Given the description of an element on the screen output the (x, y) to click on. 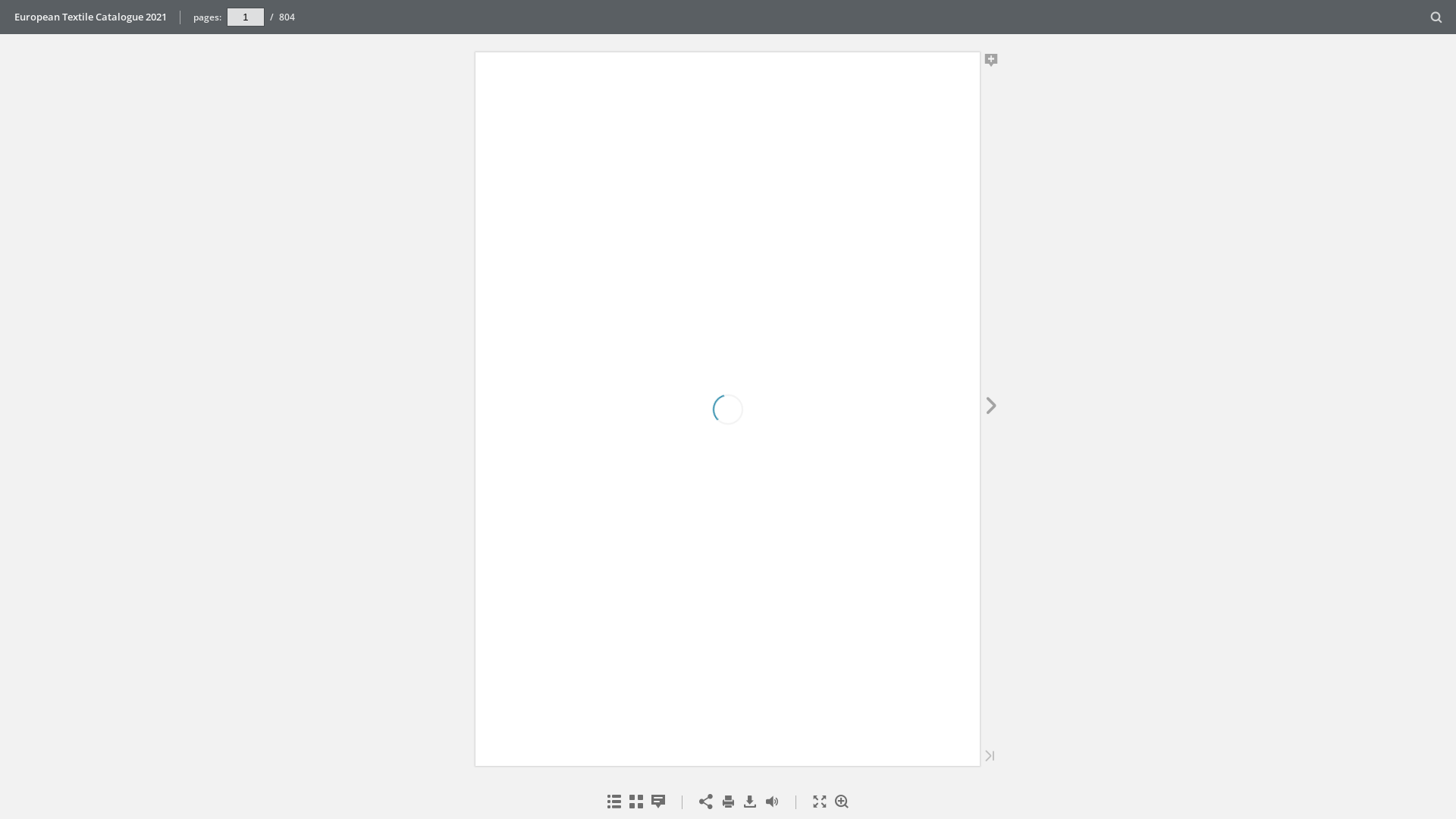
Toggle Sound Element type: hover (772, 801)
Table of Contents Element type: hover (614, 801)
Fullscreen Element type: hover (819, 801)
Notes Element type: hover (658, 801)
Zoom In Element type: hover (842, 801)
Add Note Element type: hover (991, 62)
Thumbnails Element type: hover (635, 801)
Search Element type: hover (1436, 17)
Next Page Element type: hover (991, 407)
Share Element type: hover (705, 801)
Print Element type: hover (728, 801)
Last Page Element type: hover (989, 756)
Download Element type: hover (749, 801)
